Given the description of an element on the screen output the (x, y) to click on. 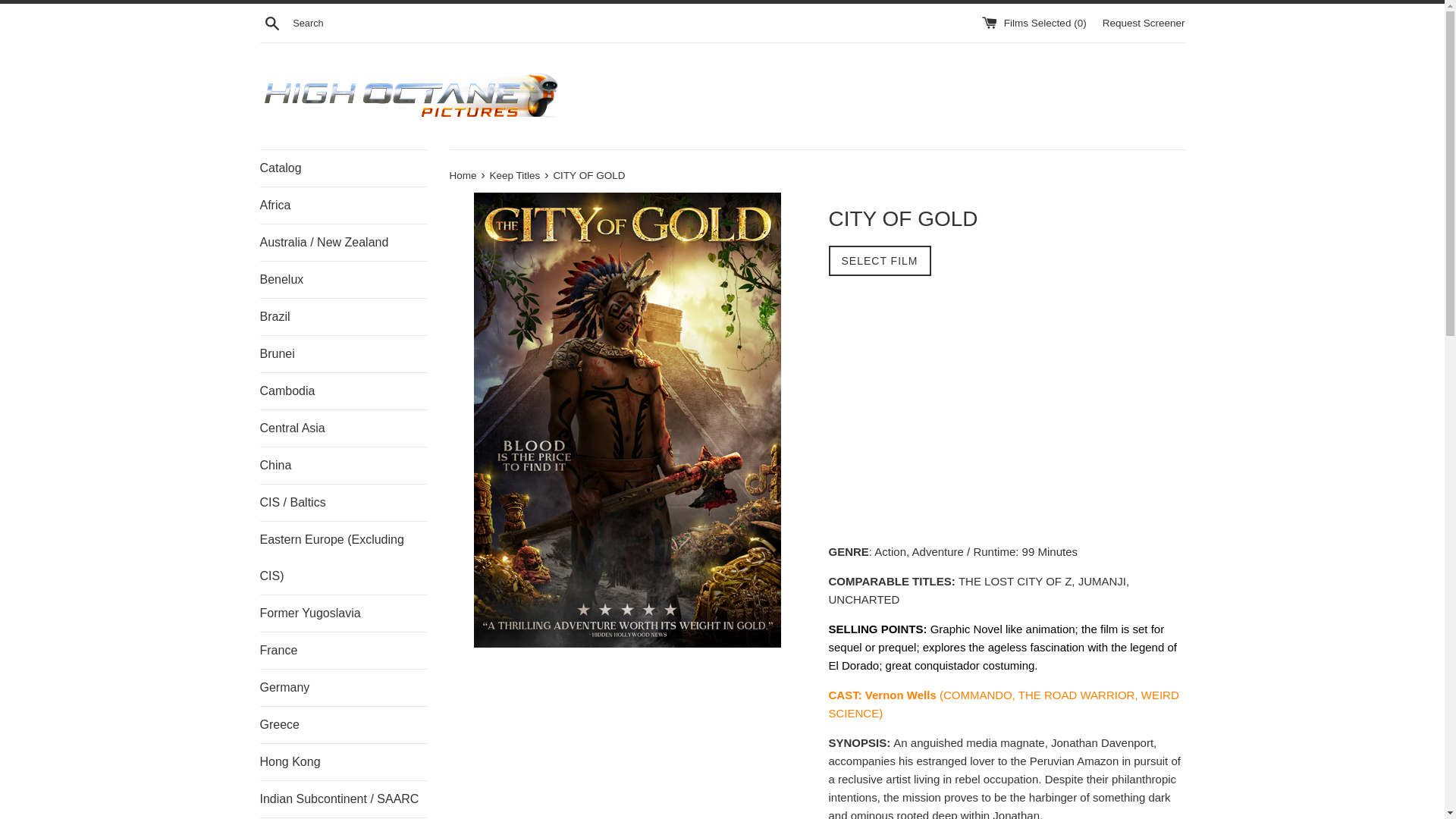
Benelux (342, 279)
Germany (342, 687)
Brunei (342, 353)
Catalog (342, 167)
Search (271, 21)
Brazil (342, 316)
Hong Kong (342, 761)
China (342, 465)
Africa (342, 205)
Central Asia (342, 428)
Back to the frontpage (463, 174)
Greece (342, 724)
Former Yugoslavia (342, 613)
France (342, 650)
